Given the description of an element on the screen output the (x, y) to click on. 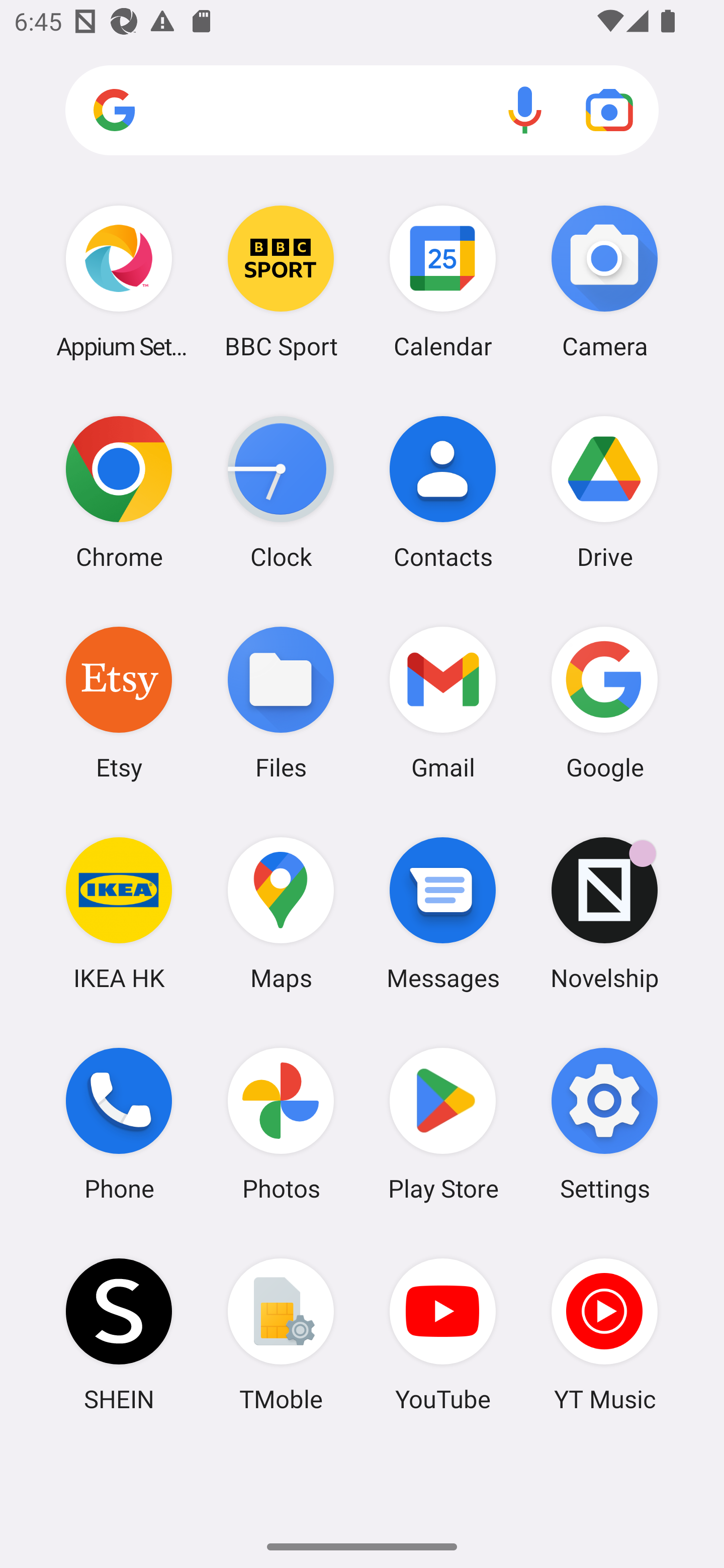
Search apps, web and more (361, 110)
Voice search (524, 109)
Google Lens (608, 109)
Appium Settings (118, 281)
BBC Sport (280, 281)
Calendar (443, 281)
Camera (604, 281)
Chrome (118, 492)
Clock (280, 492)
Contacts (443, 492)
Drive (604, 492)
Etsy (118, 702)
Files (280, 702)
Gmail (443, 702)
Google (604, 702)
IKEA HK (118, 913)
Maps (280, 913)
Messages (443, 913)
Novelship Novelship has 1 notification (604, 913)
Phone (118, 1124)
Photos (280, 1124)
Play Store (443, 1124)
Settings (604, 1124)
SHEIN (118, 1334)
TMoble (280, 1334)
YouTube (443, 1334)
YT Music (604, 1334)
